Given the description of an element on the screen output the (x, y) to click on. 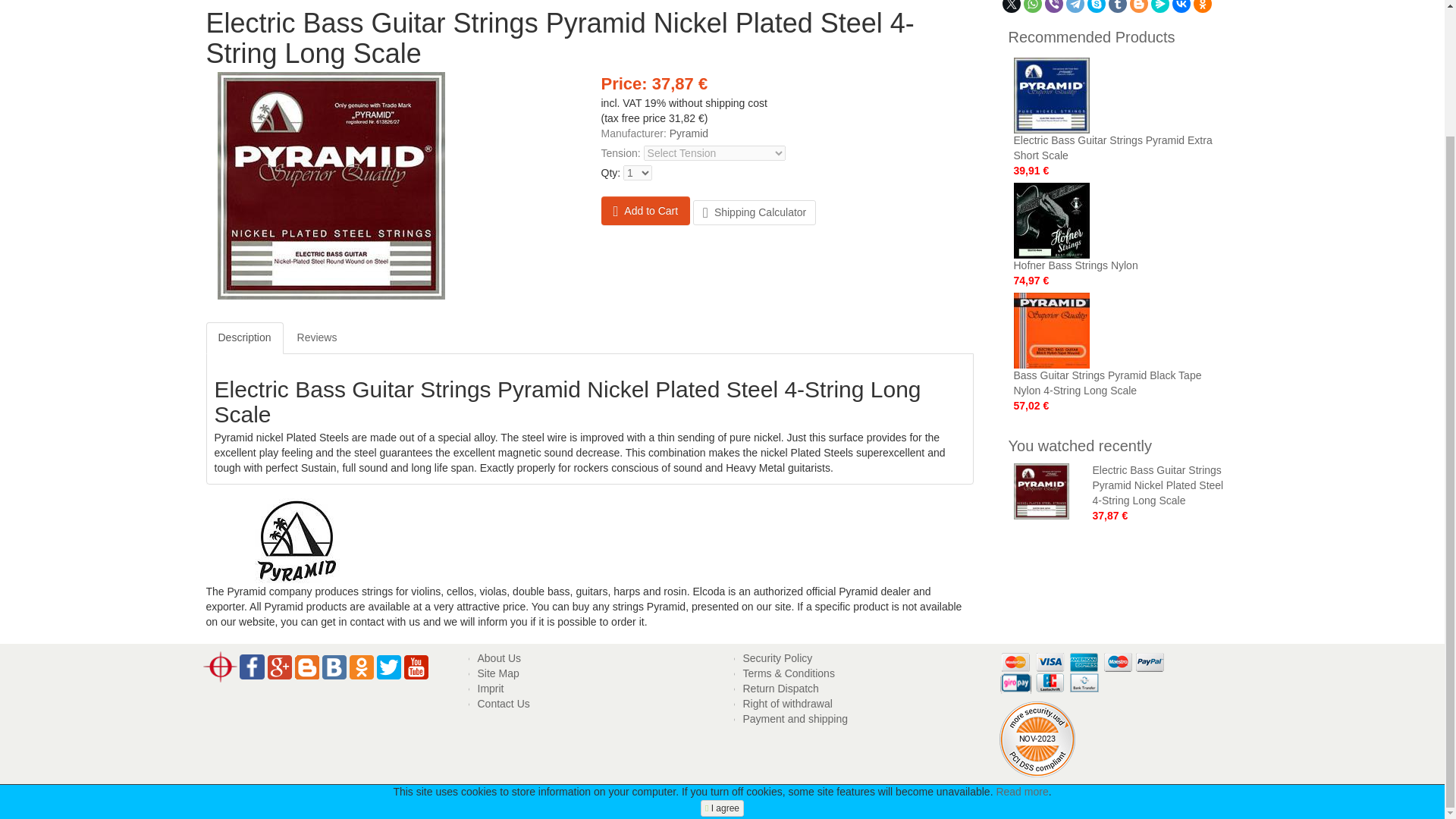
Viber (1053, 6)
Blogger (1138, 6)
Tumblr (1117, 6)
WhatsApp (1032, 6)
Telegram (1074, 6)
Twitter (1011, 6)
Skype (1096, 6)
